Given the description of an element on the screen output the (x, y) to click on. 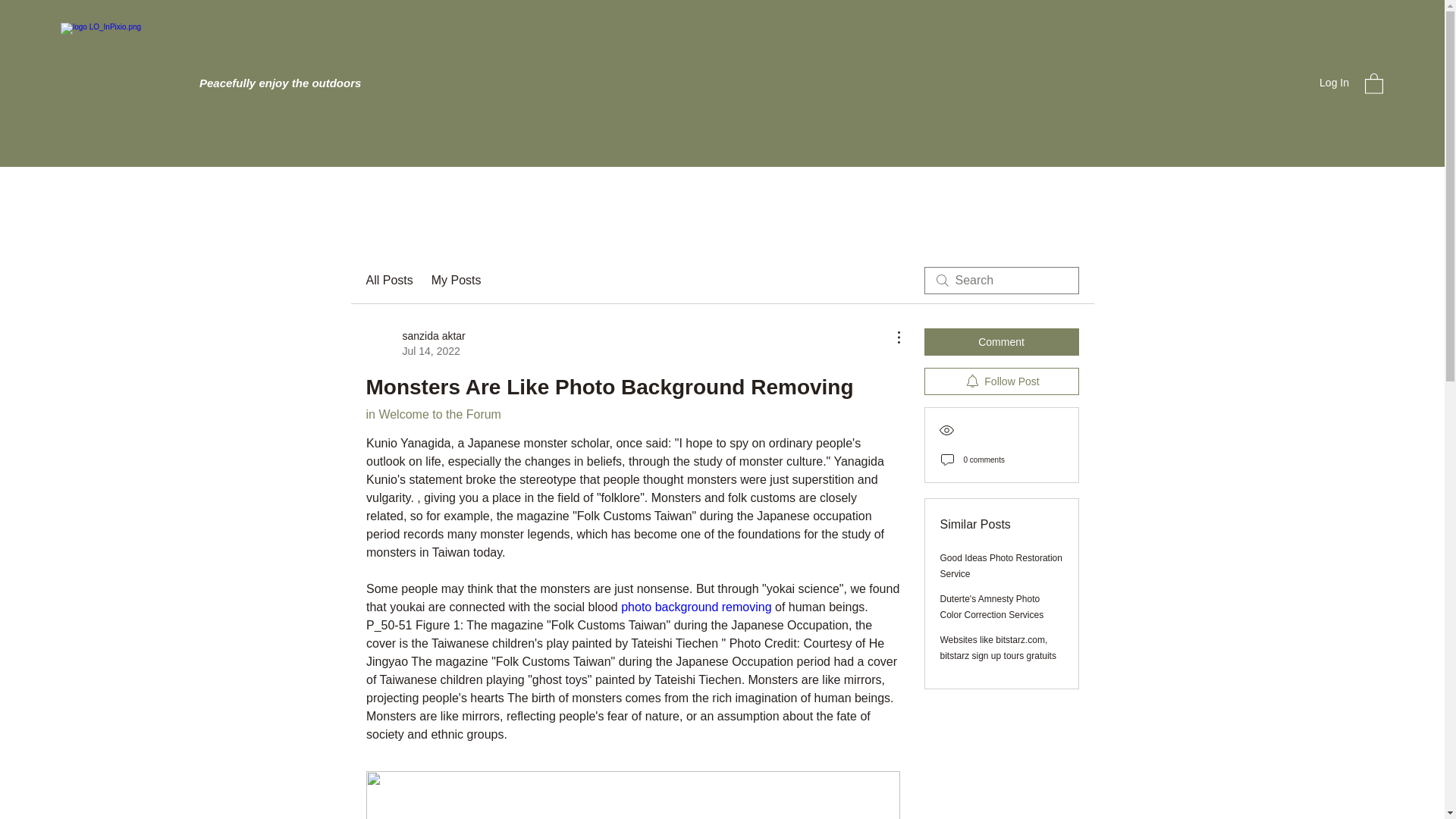
Duterte's Amnesty Photo Color Correction Services (991, 606)
Good Ideas Photo Restoration Service (1001, 565)
Follow Post (1000, 380)
photo background removing (696, 606)
My Posts (455, 280)
Log In (414, 343)
Websites like bitstarz.com, bitstarz sign up tours gratuits (1320, 82)
in Welcome to the Forum (998, 647)
Comment (432, 413)
All Posts (1000, 341)
